Given the description of an element on the screen output the (x, y) to click on. 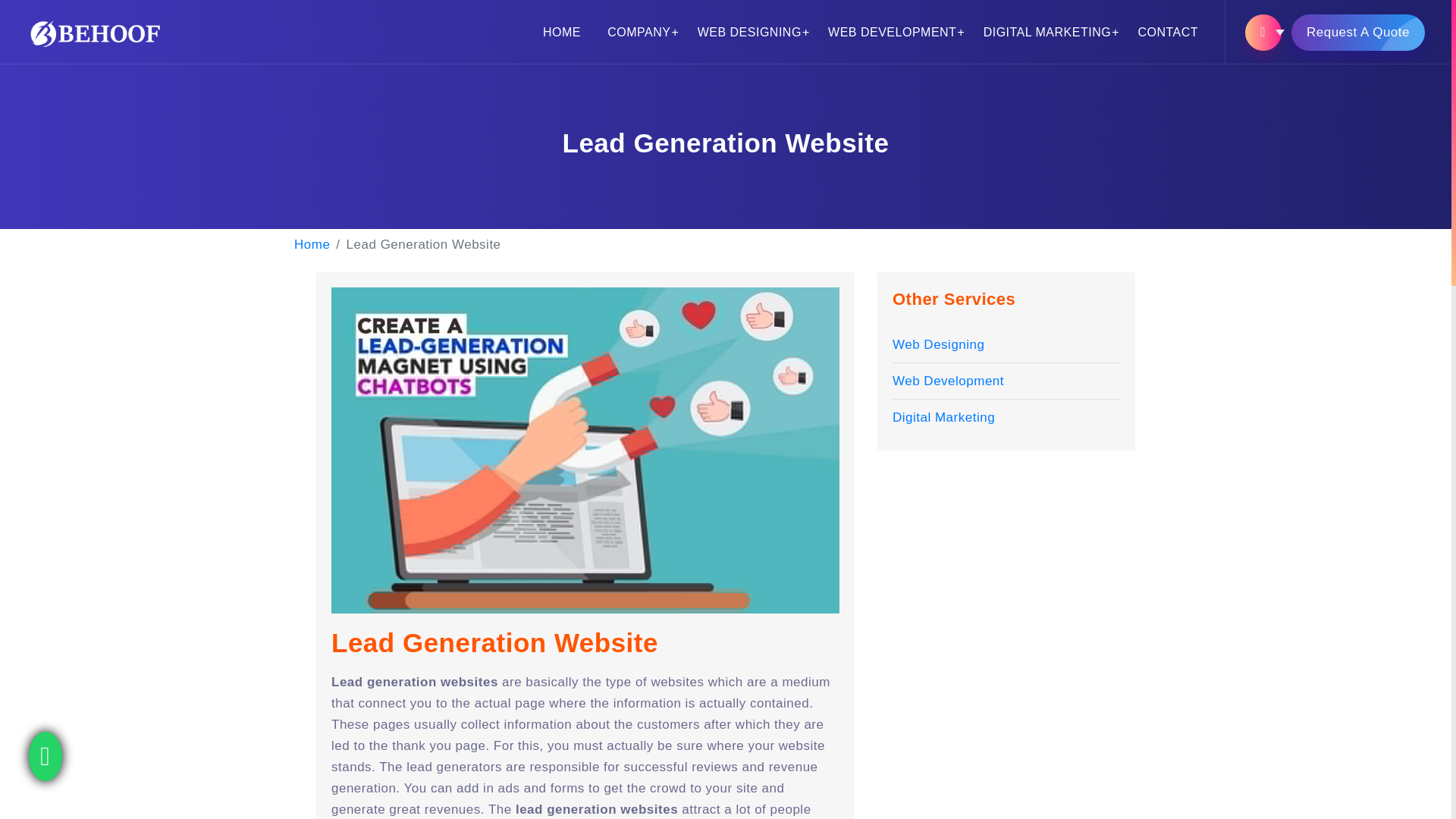
WEB DEVELOPMENT (892, 32)
COMPANY (638, 32)
DIGITAL MARKETING (1047, 32)
HOME (561, 32)
WEB DESIGNING (748, 32)
